Given the description of an element on the screen output the (x, y) to click on. 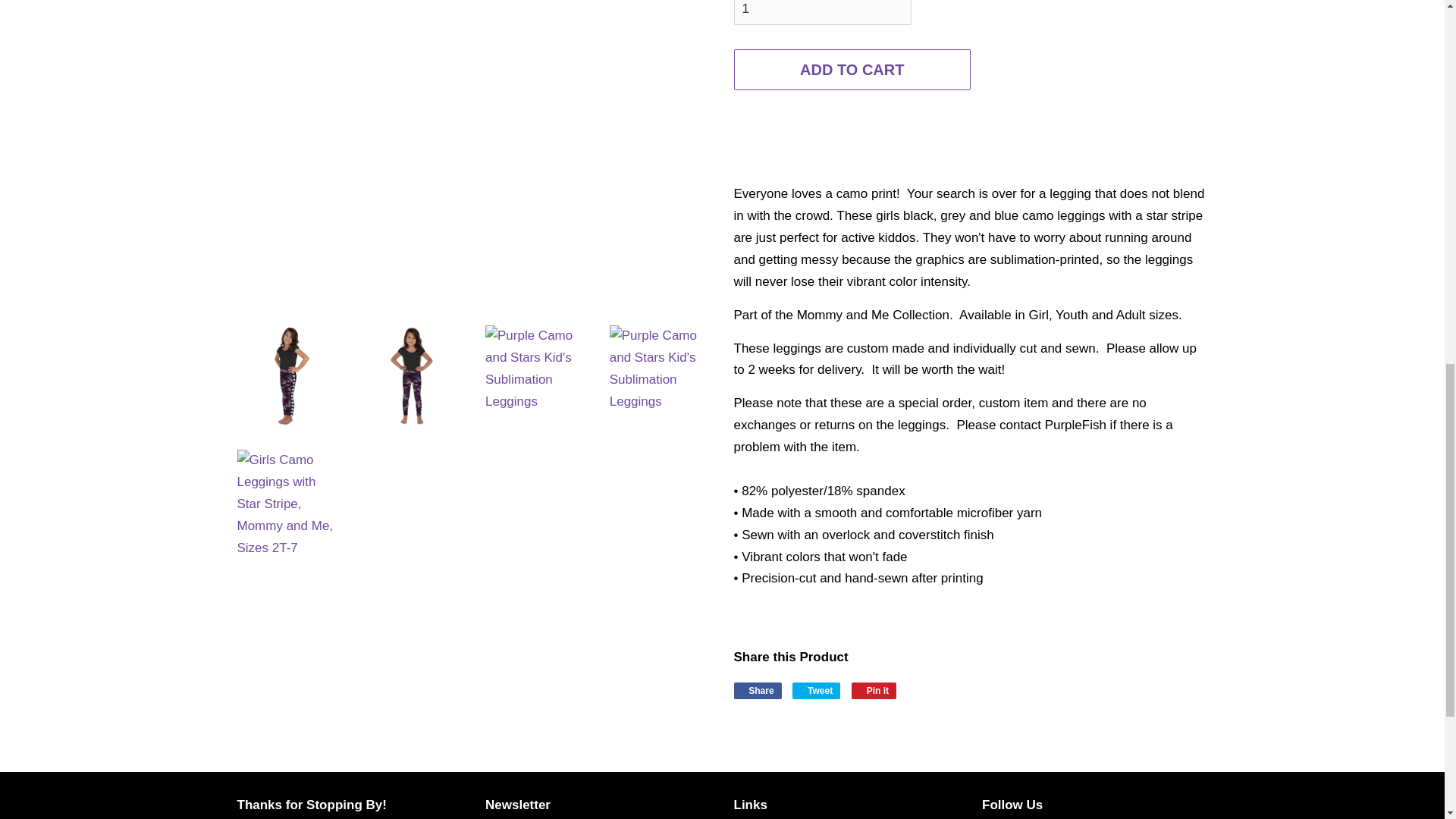
Tweet on Twitter (816, 690)
1 (822, 12)
Share on Facebook (757, 690)
Pin on Pinterest (873, 690)
